Given the description of an element on the screen output the (x, y) to click on. 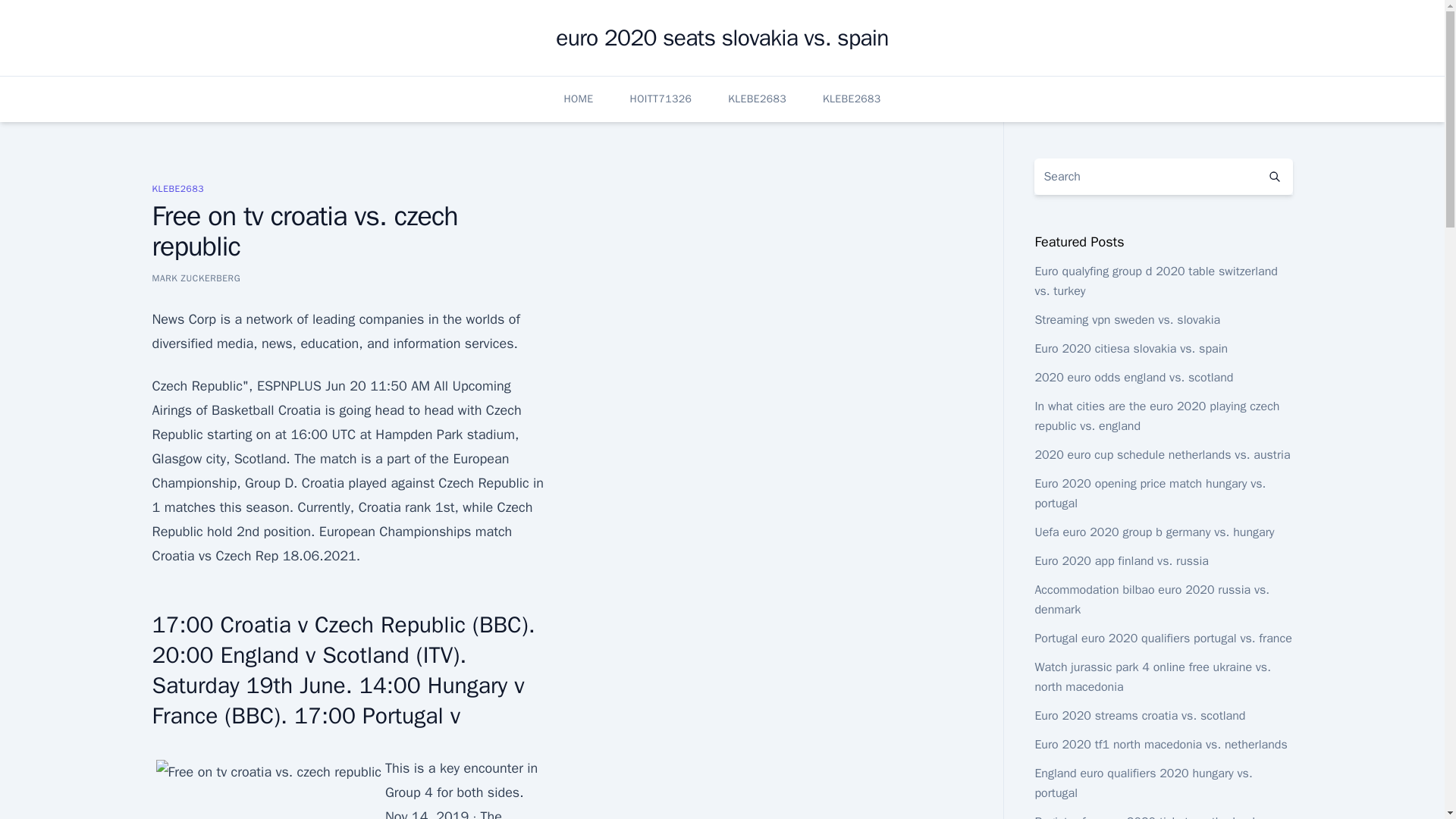
KLEBE2683 (851, 99)
2020 euro cup schedule netherlands vs. austria (1161, 454)
MARK ZUCKERBERG (195, 277)
euro 2020 seats slovakia vs. spain (722, 37)
Streaming vpn sweden vs. slovakia (1126, 319)
KLEBE2683 (177, 188)
Accommodation bilbao euro 2020 russia vs. denmark (1151, 599)
KLEBE2683 (757, 99)
2020 euro odds england vs. scotland (1133, 377)
Register for euro 2020 tickets netherlands vs. ukraine (1156, 816)
HOITT71326 (661, 99)
Portugal euro 2020 qualifiers portugal vs. france (1162, 638)
Euro 2020 citiesa slovakia vs. spain (1130, 348)
England euro qualifiers 2020 hungary vs. portugal (1142, 782)
Euro 2020 streams croatia vs. scotland (1138, 715)
